Given the description of an element on the screen output the (x, y) to click on. 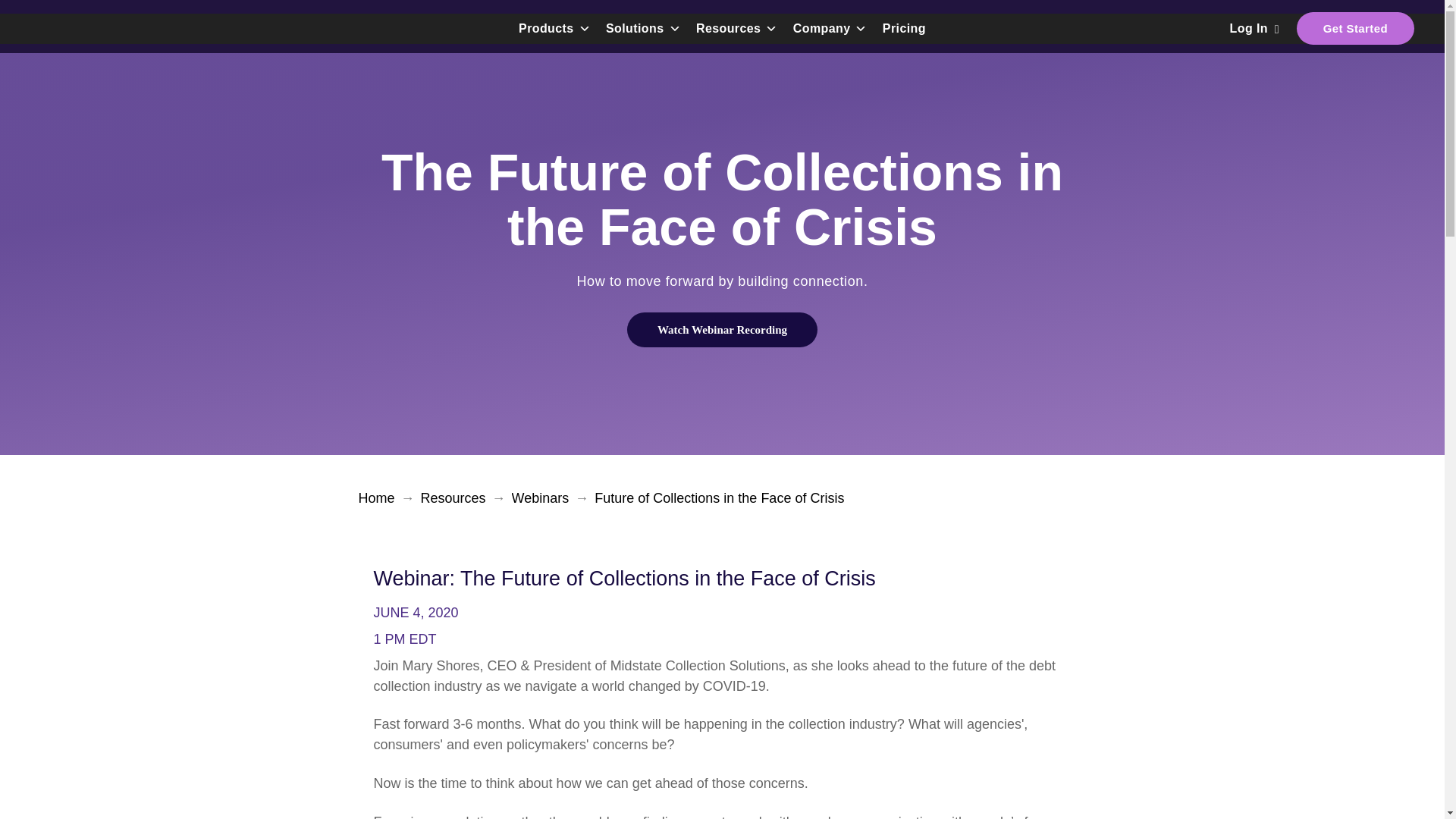
Products (554, 28)
Solutions (643, 28)
You Are Here (719, 497)
